Given the description of an element on the screen output the (x, y) to click on. 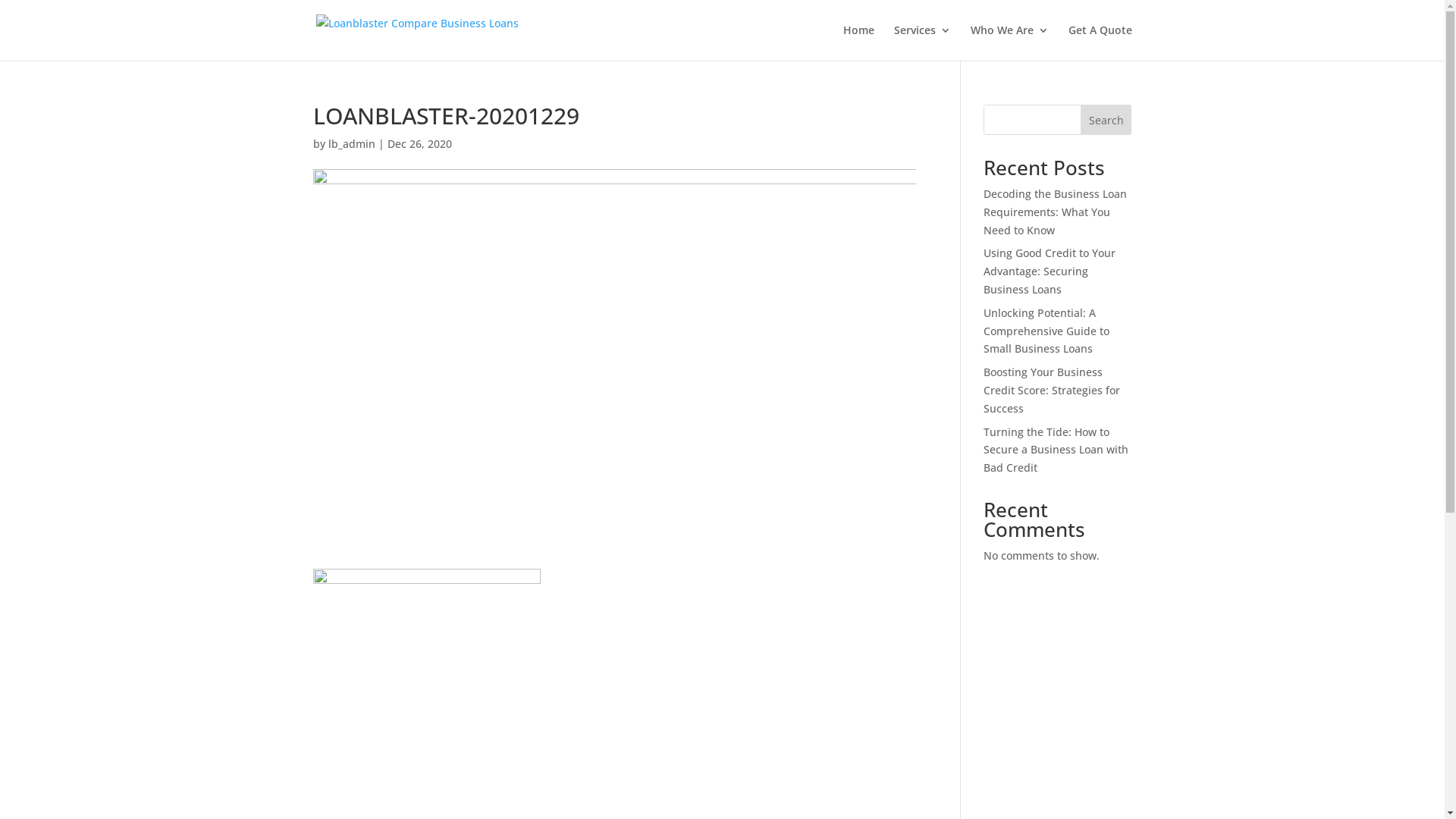
Boosting Your Business Credit Score: Strategies for Success Element type: text (1051, 389)
Using Good Credit to Your Advantage: Securing Business Loans Element type: text (1049, 270)
Get A Quote Element type: text (1099, 42)
lb_admin Element type: text (350, 143)
Home Element type: text (858, 42)
Services Element type: text (921, 42)
Who We Are Element type: text (1009, 42)
Search Element type: text (1106, 119)
